Given the description of an element on the screen output the (x, y) to click on. 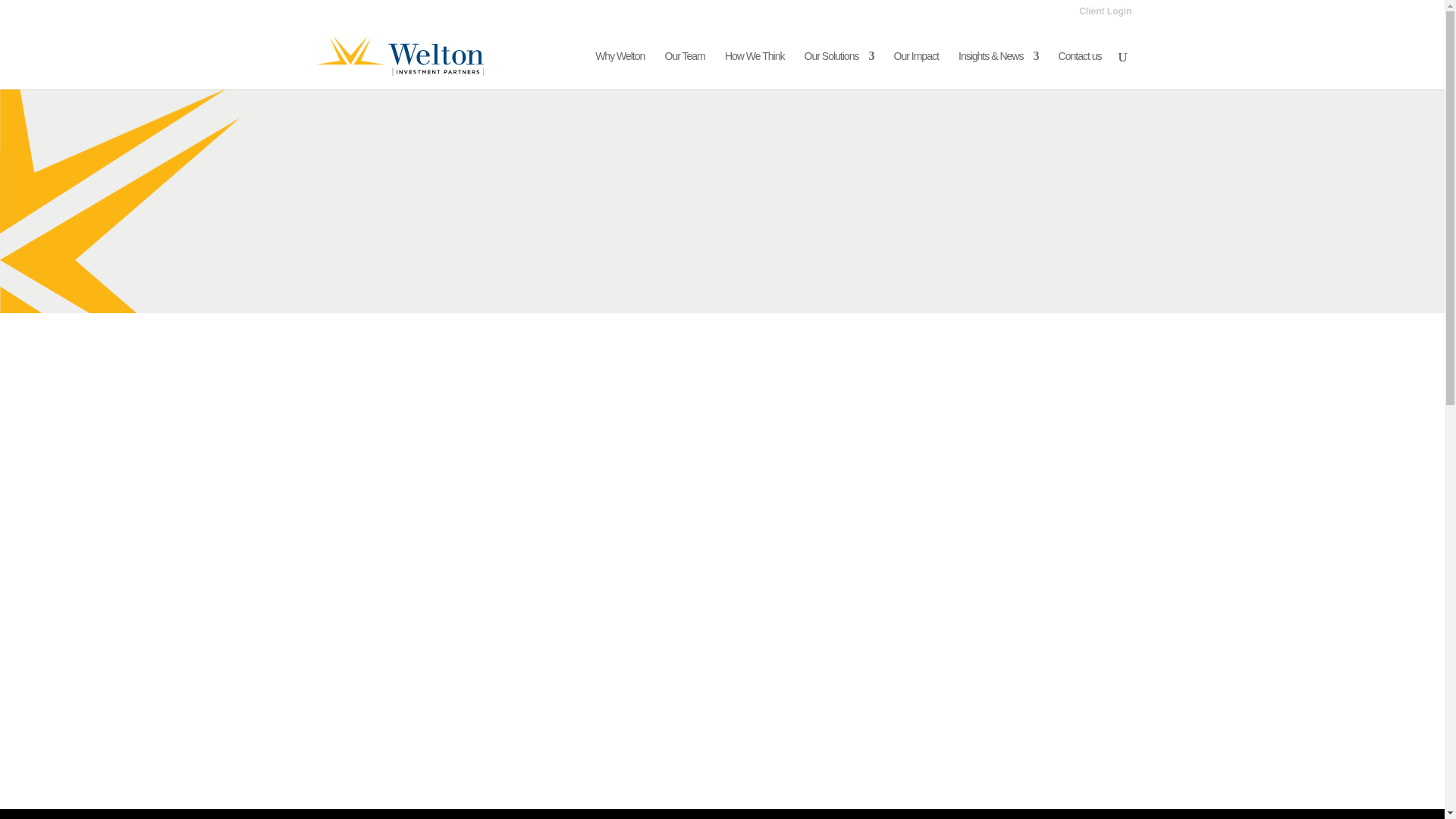
Contact us (1080, 69)
Client Login (1104, 14)
How We Think (754, 69)
Our Team (684, 69)
Our Solutions (840, 69)
Our Impact (916, 69)
Why Welton (620, 69)
